Given the description of an element on the screen output the (x, y) to click on. 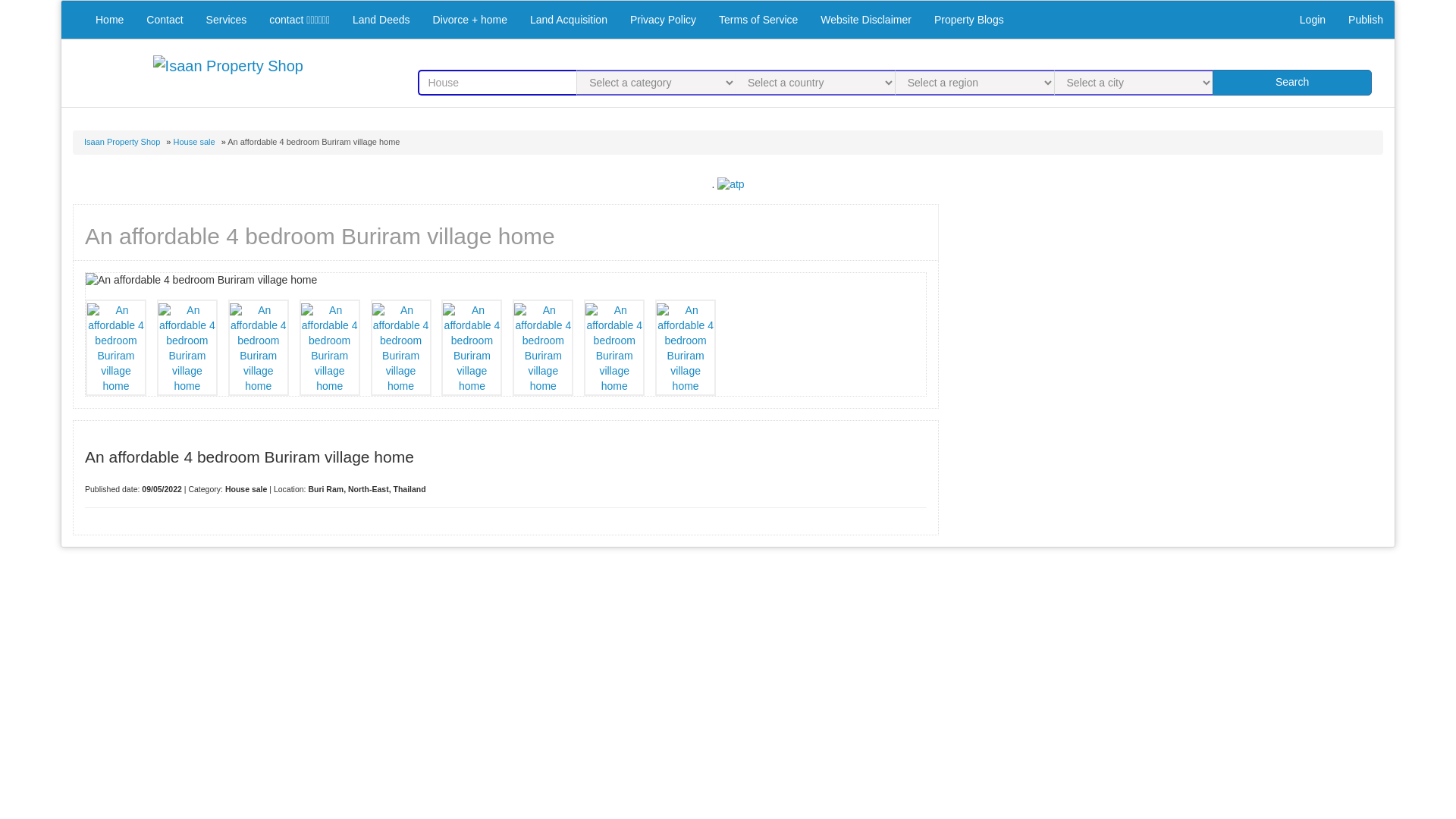
Contact (164, 19)
Home (109, 19)
Land Deeds (381, 19)
Land Acquisition (568, 19)
Property Blogs (968, 19)
Privacy Policy (662, 19)
House sale (194, 141)
Isaan Property Shop (122, 141)
Search (1291, 82)
Publish (1365, 19)
